Given the description of an element on the screen output the (x, y) to click on. 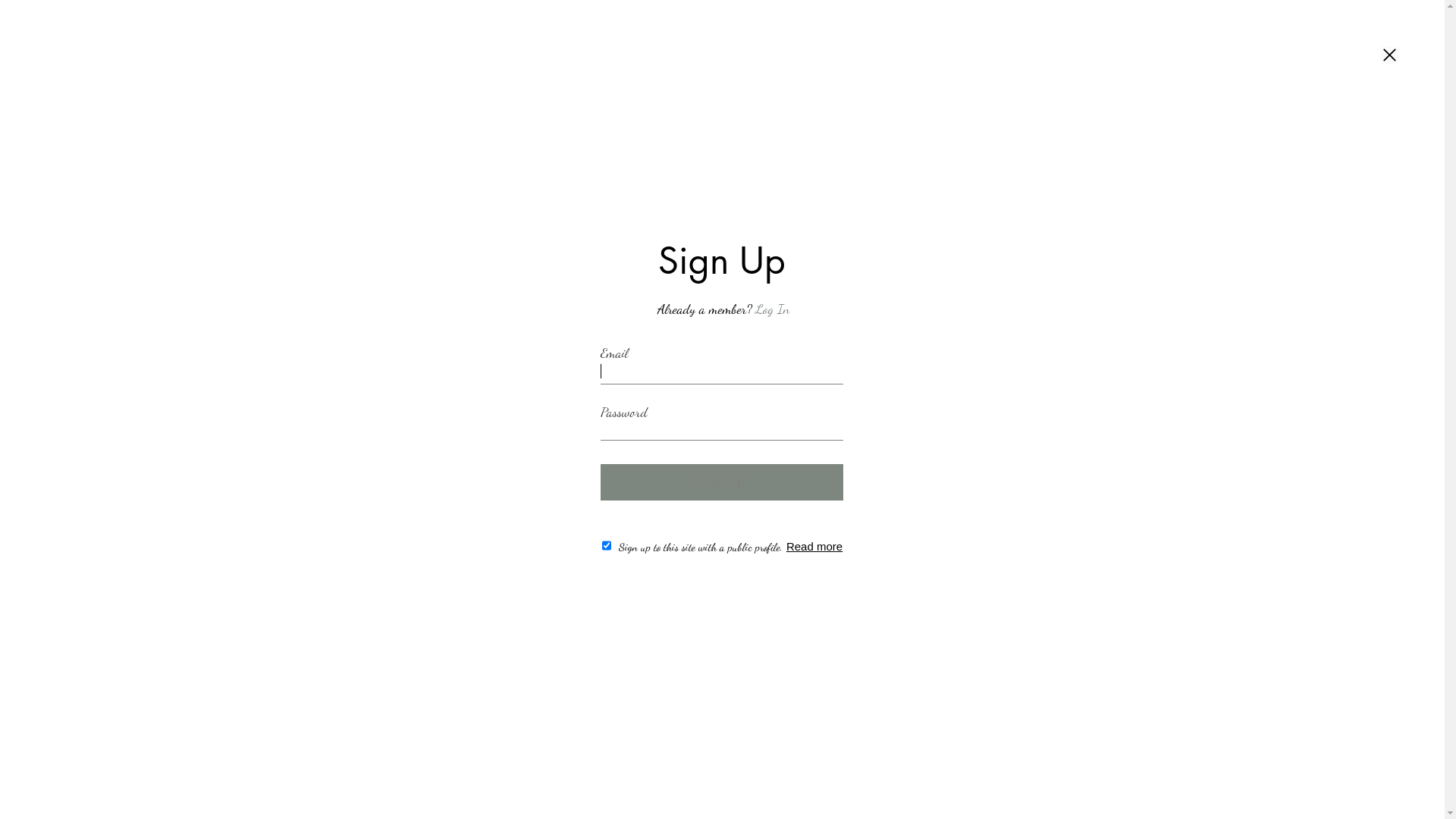
Sign Up Element type: text (721, 482)
Read more Element type: text (814, 545)
Log In Element type: text (772, 309)
